Given the description of an element on the screen output the (x, y) to click on. 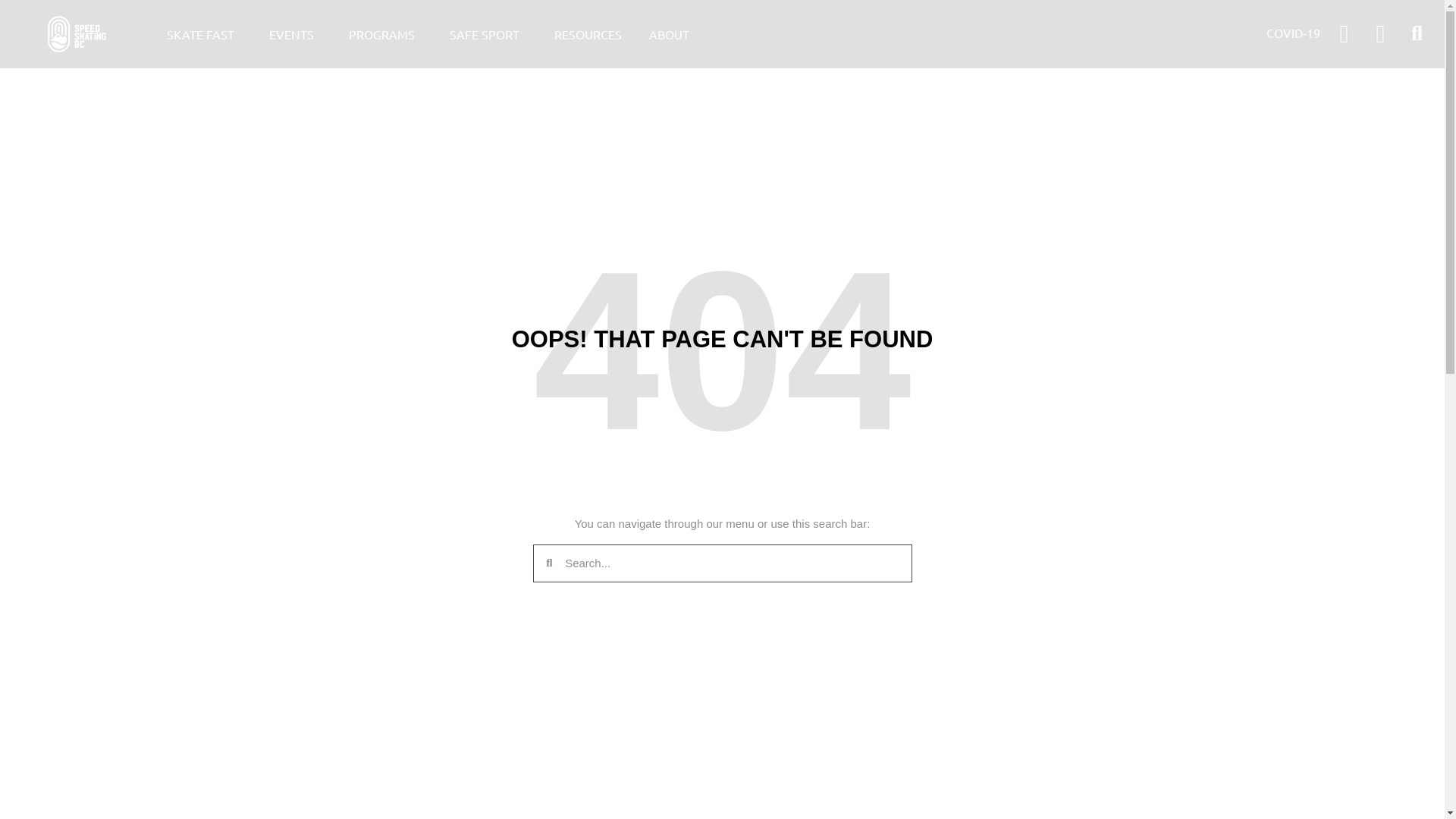
Click here Element type: text (76, 34)
SKATE FAST Element type: text (204, 34)
PROGRAMS Element type: text (385, 34)
SAFE SPORT Element type: text (488, 34)
RESOURCES Element type: text (587, 34)
EVENTS Element type: text (295, 34)
COVID-19 Element type: text (1298, 32)
ABOUT Element type: text (672, 34)
